Given the description of an element on the screen output the (x, y) to click on. 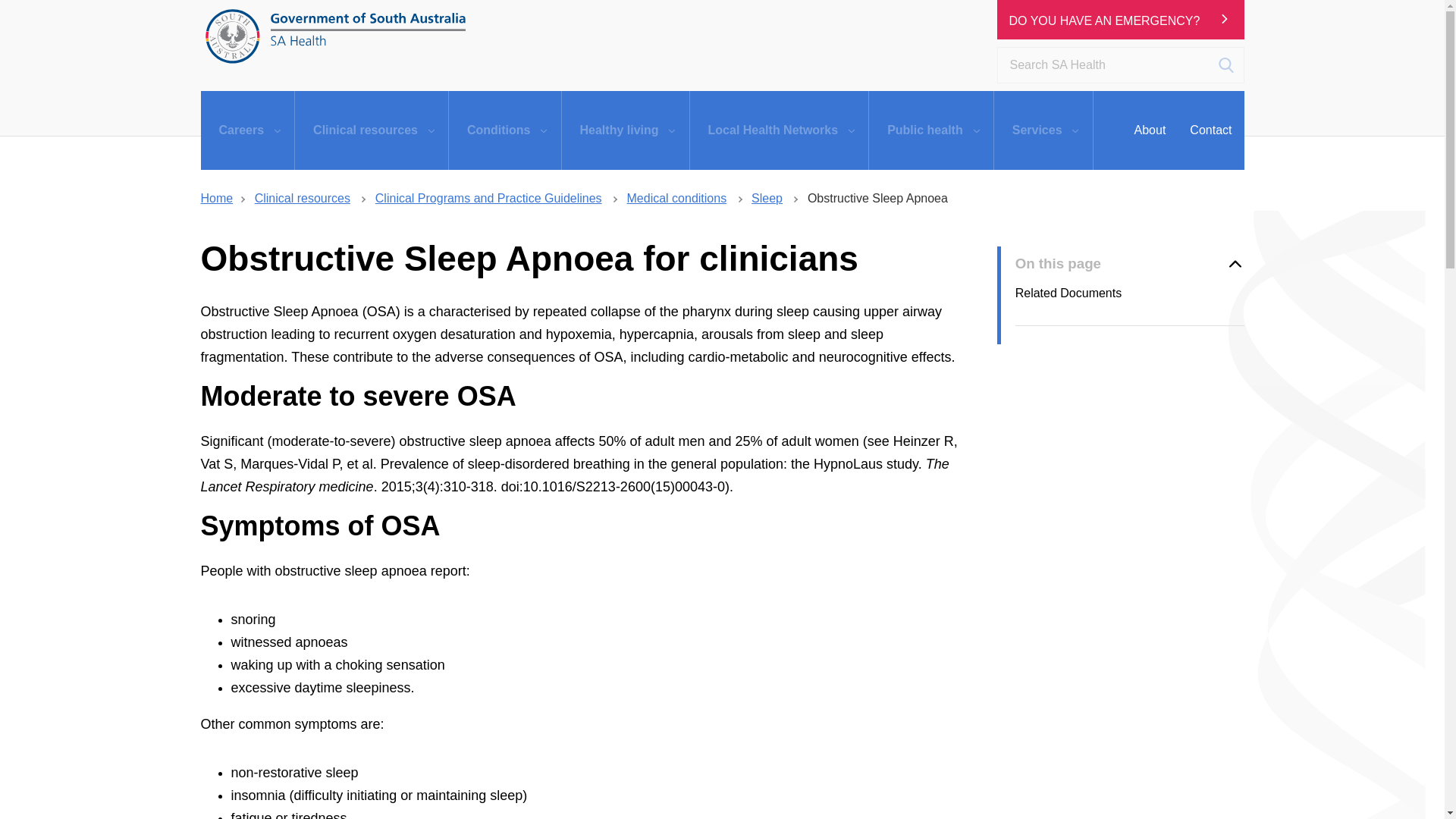
Public health (930, 129)
Medical conditions (676, 197)
Careers (247, 129)
Clinical resources (371, 129)
Healthy living (624, 129)
Clinical Programs and Practice Guidelines (488, 197)
Local Health Networks (779, 129)
Home (216, 197)
Related Documents (1129, 299)
SA Health (335, 35)
